Given the description of an element on the screen output the (x, y) to click on. 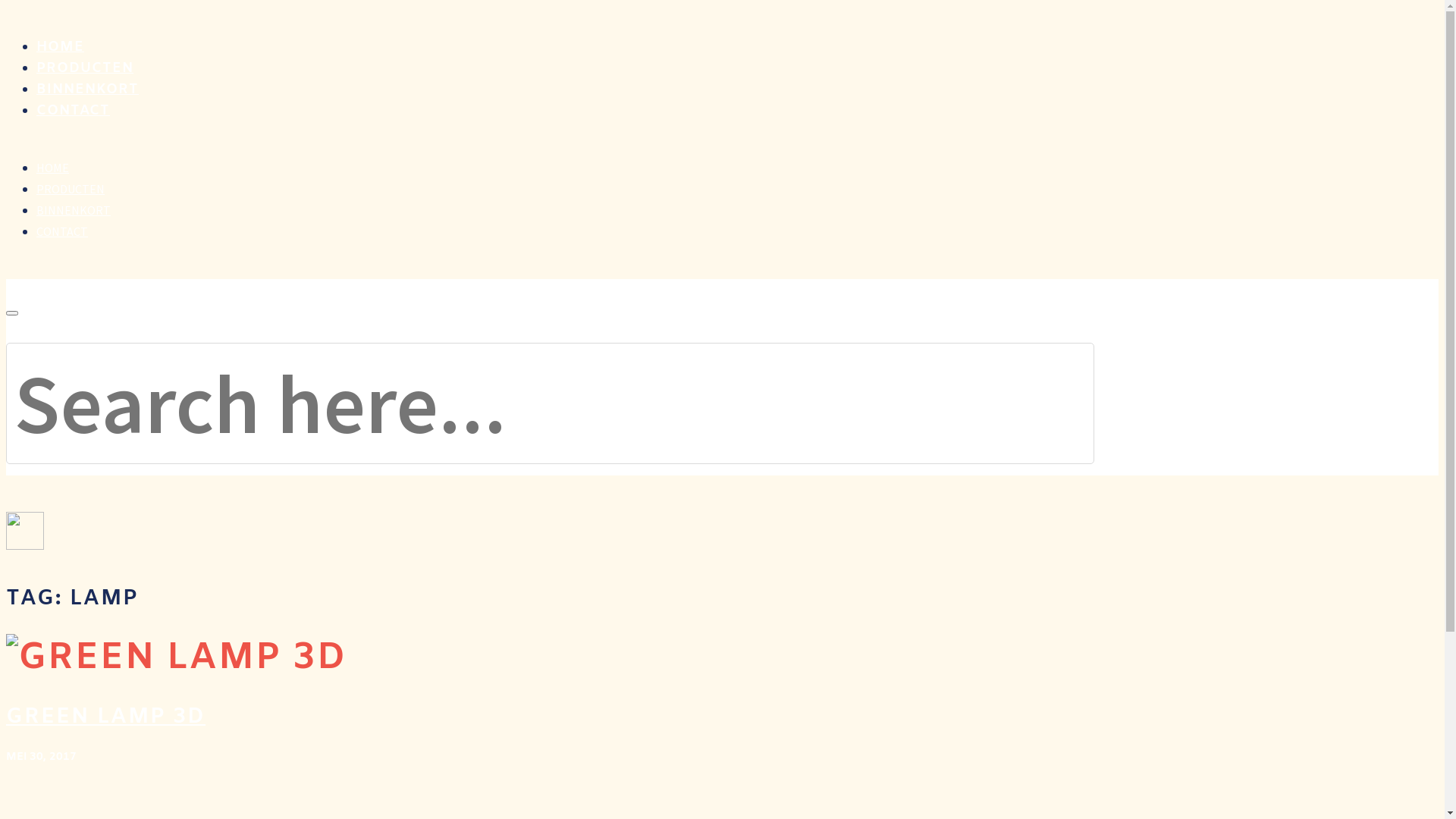
CONTACT Element type: text (72, 110)
CONTACT Element type: text (61, 230)
HOME Element type: text (52, 167)
Green Lamp 3D Element type: hover (176, 657)
BINNENKORT Element type: text (73, 209)
BINNENKORT Element type: text (87, 89)
GREEN LAMP 3D Element type: text (105, 716)
PRODUCTEN Element type: text (70, 188)
PRODUCTEN Element type: text (84, 68)
HOME Element type: text (60, 46)
